Given the description of an element on the screen output the (x, y) to click on. 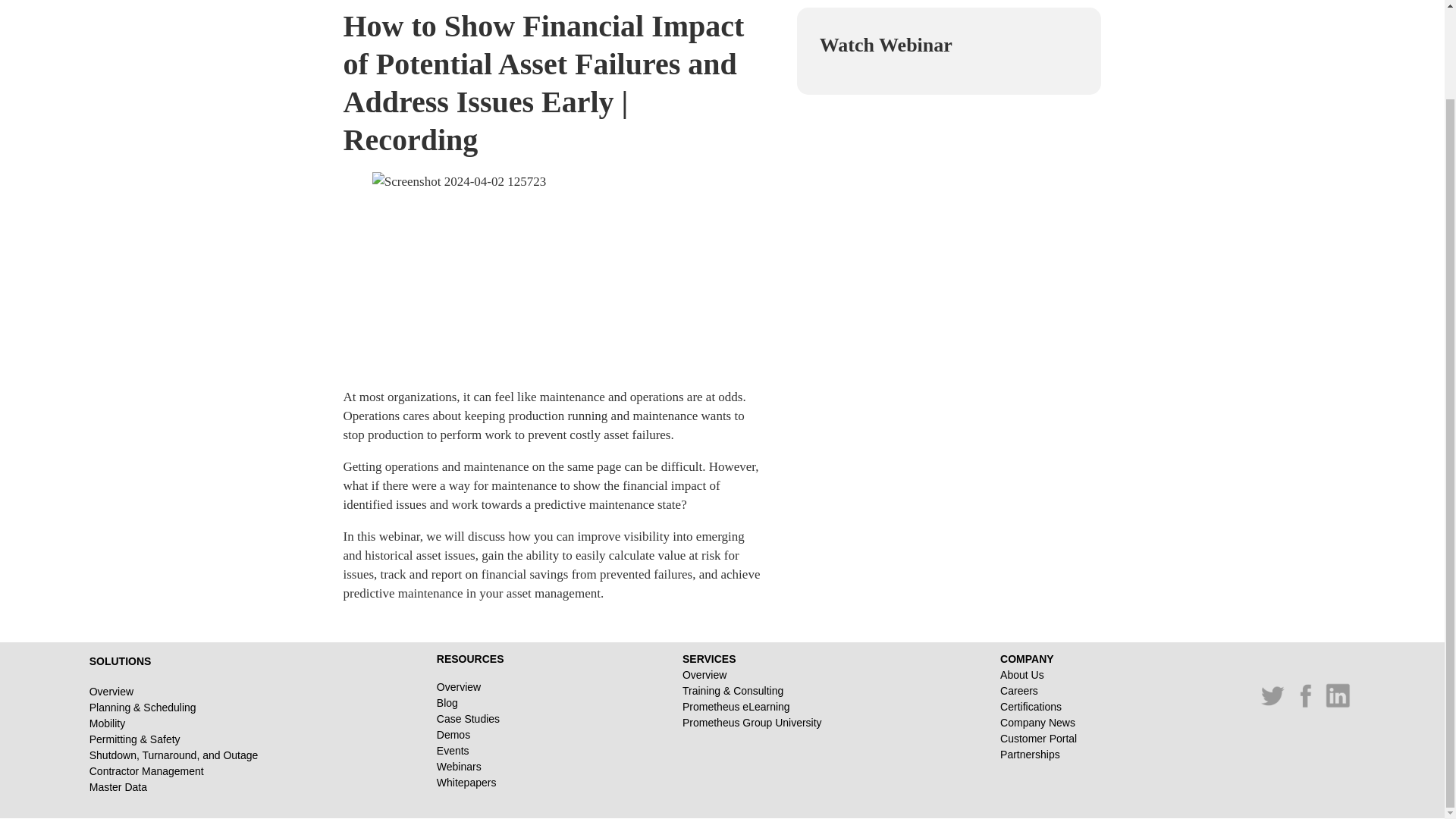
Master Data (173, 786)
Overview (469, 686)
Shutdown, Turnaround, and Outage (173, 754)
Partnerships (1038, 754)
Prometheus eLearning (752, 706)
Overview (173, 691)
Customer Portal (1038, 738)
Case Studies (469, 718)
Webinars (469, 766)
Certifications (1038, 706)
